Given the description of an element on the screen output the (x, y) to click on. 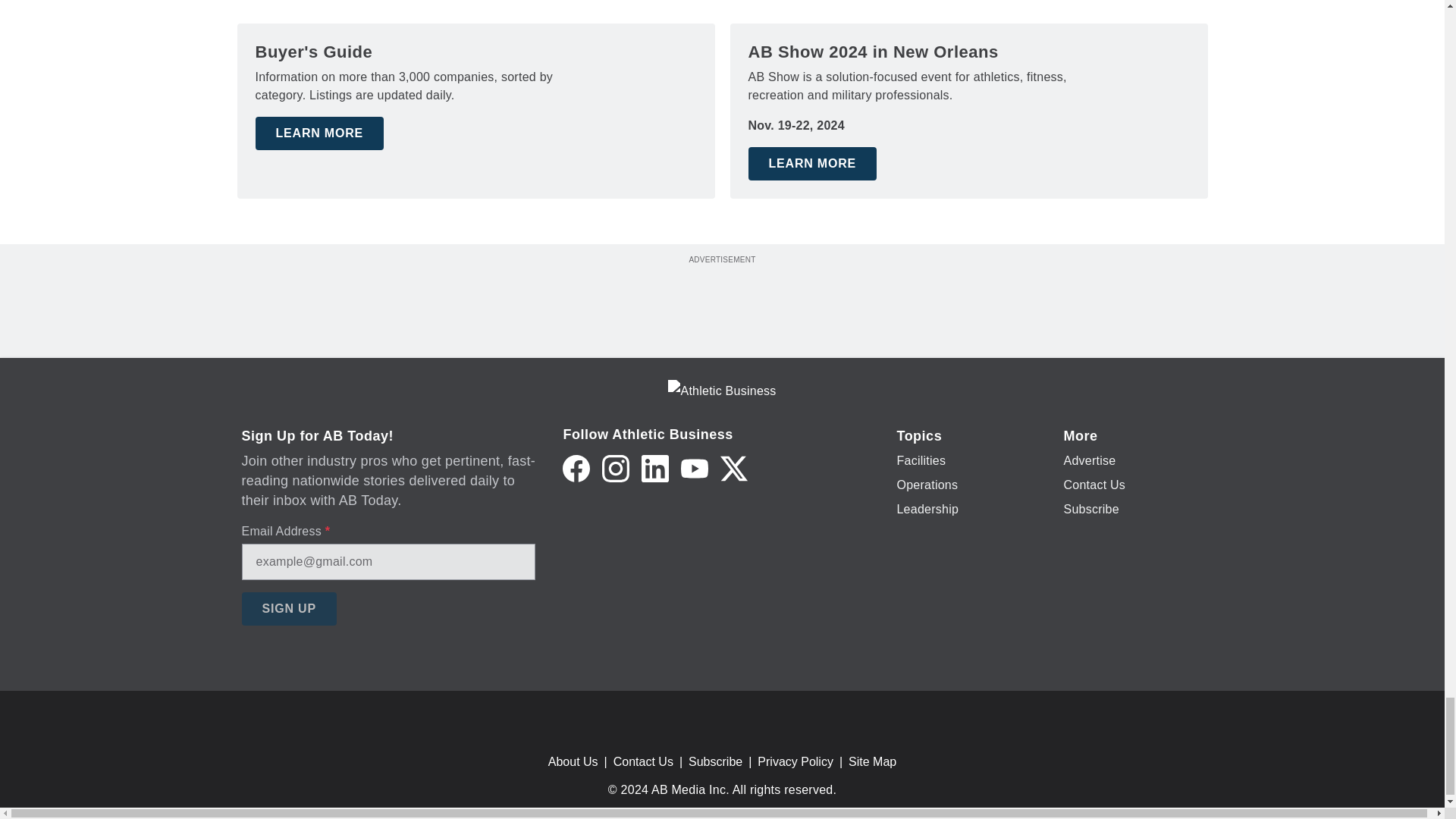
Instagram icon (615, 468)
LinkedIn icon (655, 468)
Facebook icon (575, 468)
YouTube icon (694, 468)
Twitter X icon (734, 468)
